Given the description of an element on the screen output the (x, y) to click on. 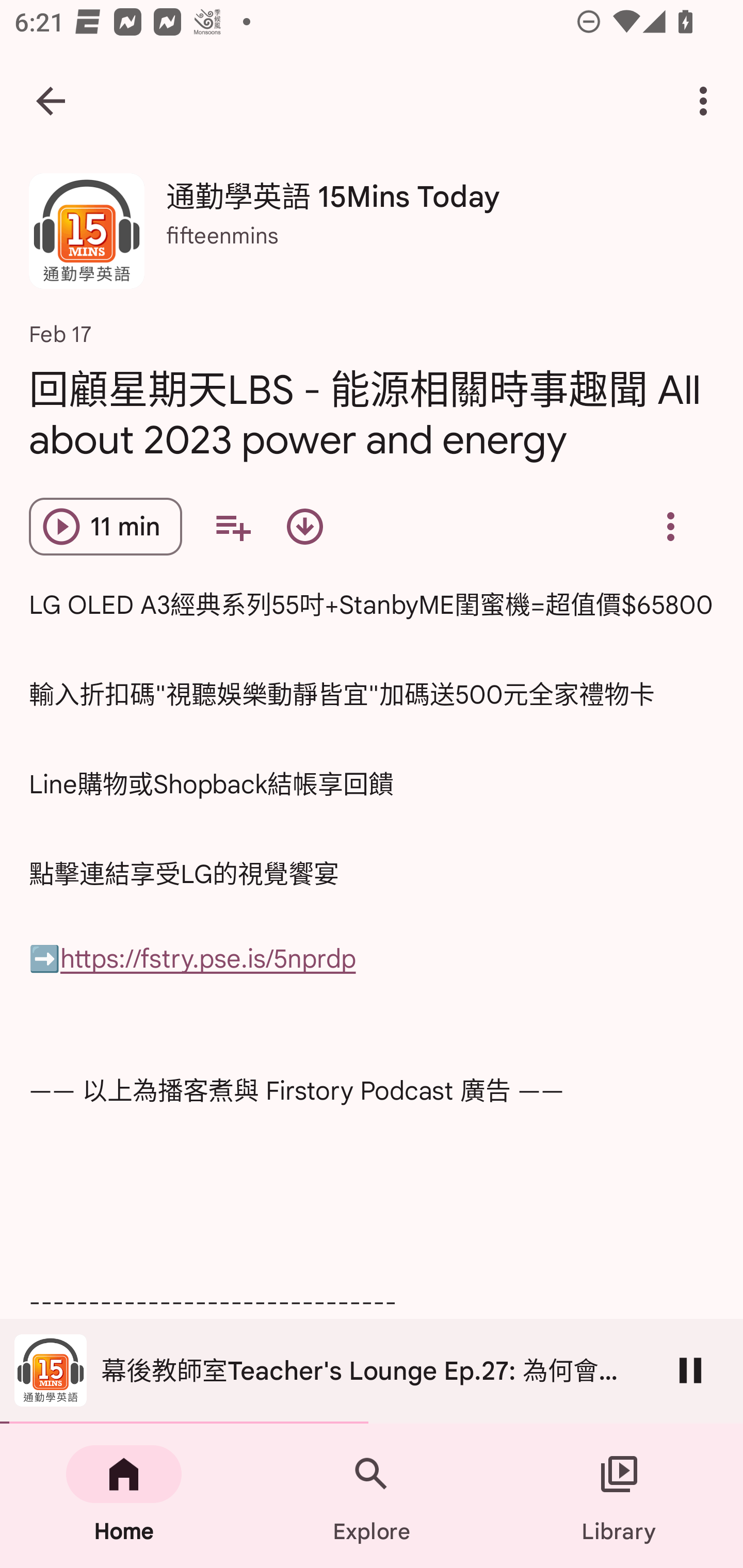
Navigate up (50, 101)
More options (706, 101)
通勤學英語 15Mins Today 通勤學英語 15Mins Today fifteenmins (371, 238)
Add to your queue (232, 525)
Download episode (304, 525)
Overflow menu (670, 525)
Pause (690, 1370)
Explore (371, 1495)
Library (619, 1495)
